Given the description of an element on the screen output the (x, y) to click on. 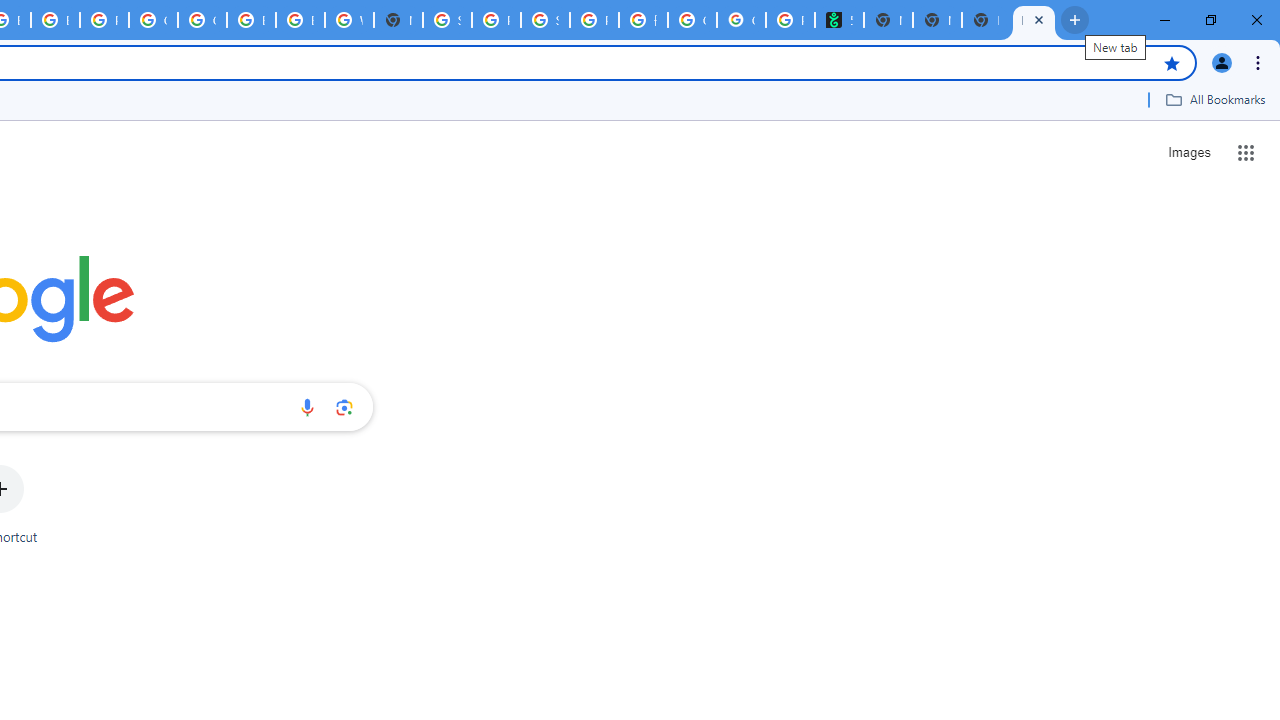
Browse Chrome as a guest - Computer - Google Chrome Help (300, 20)
Google Cloud Platform (153, 20)
New Tab (937, 20)
Browse Chrome as a guest - Computer - Google Chrome Help (251, 20)
New Tab (398, 20)
Search for Images  (1188, 152)
